Given the description of an element on the screen output the (x, y) to click on. 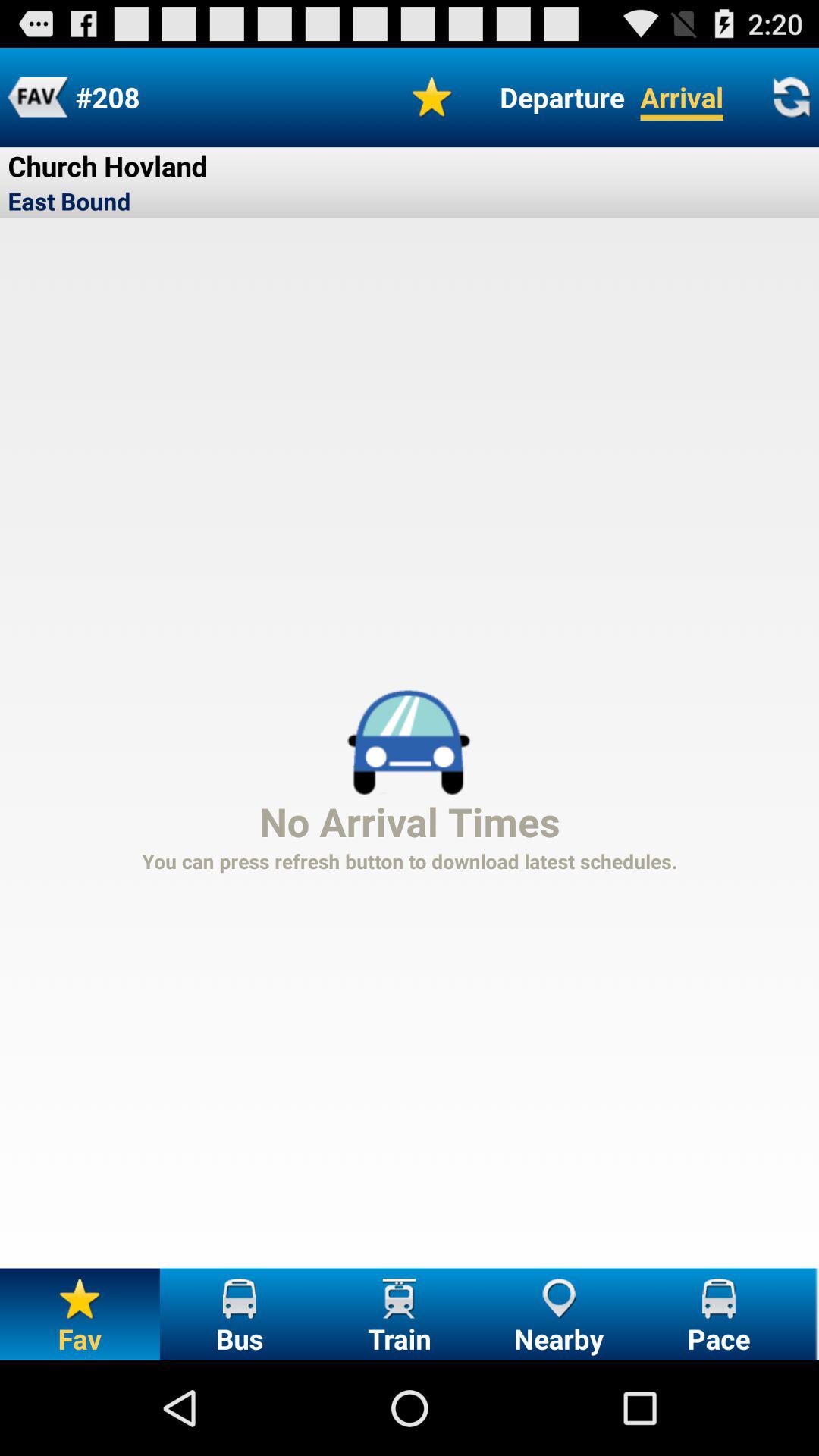
refresh (791, 97)
